Given the description of an element on the screen output the (x, y) to click on. 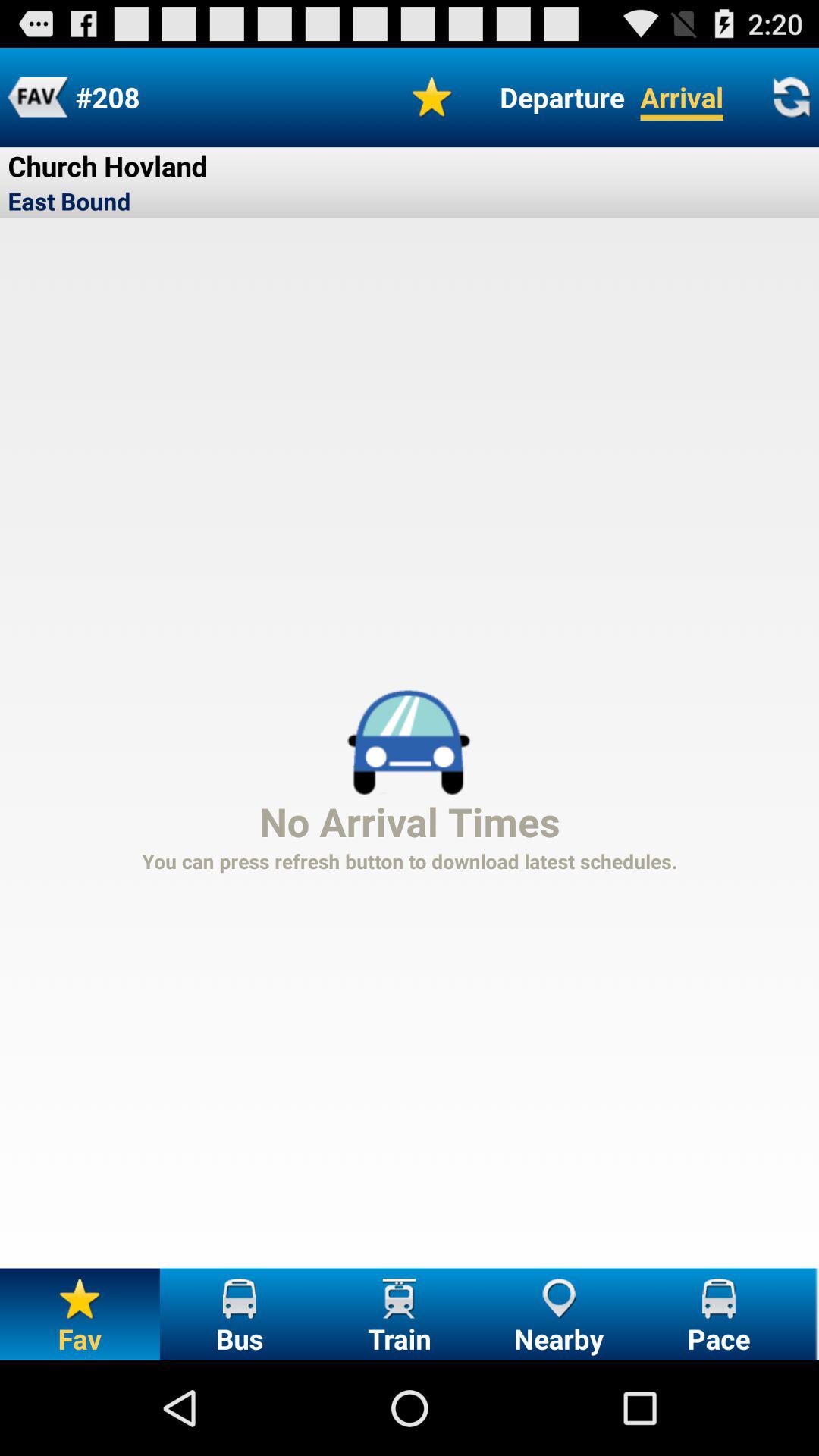
refresh (791, 97)
